Given the description of an element on the screen output the (x, y) to click on. 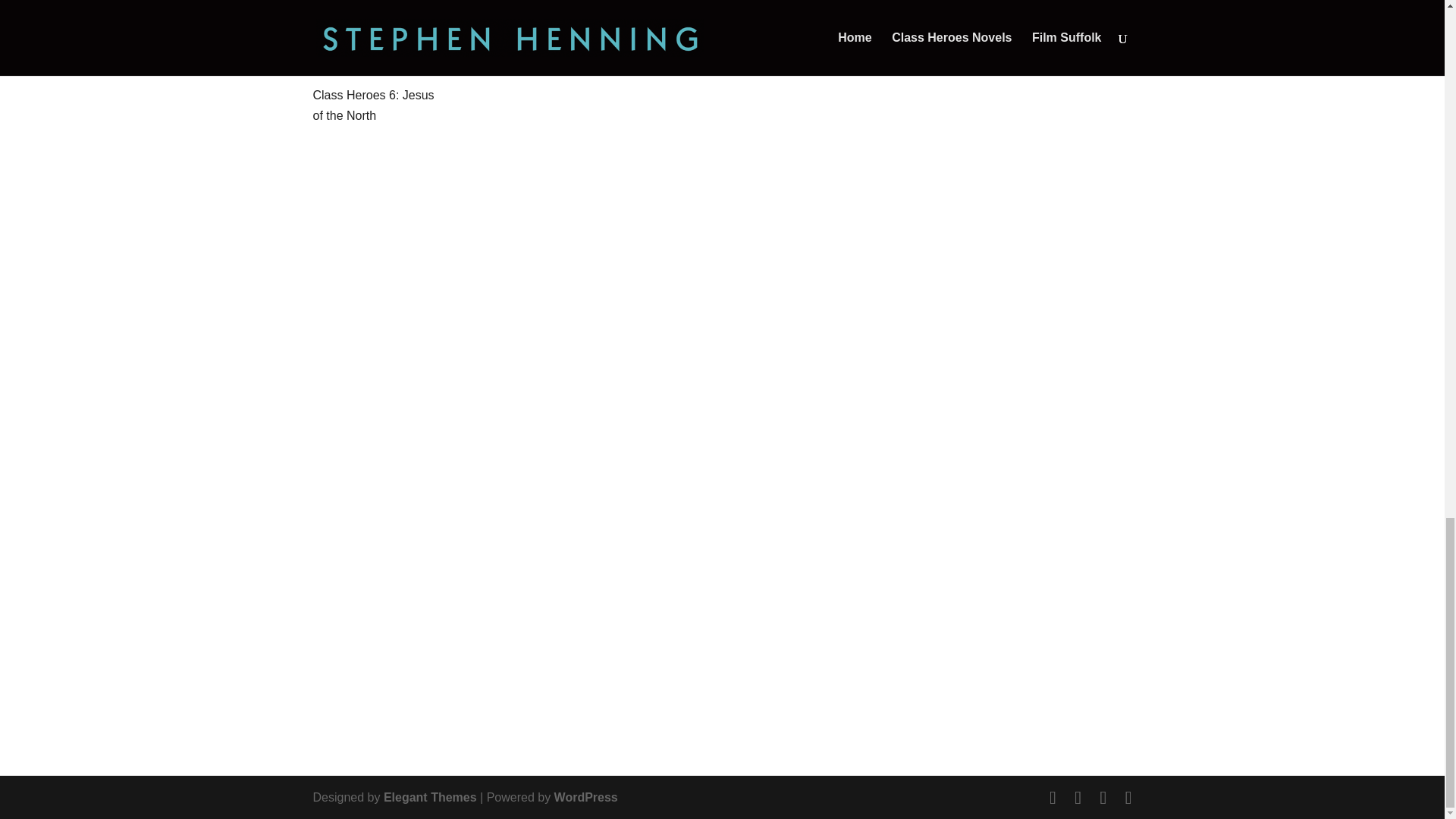
Premium WordPress Themes (430, 797)
Class Heroes 6: Jesus of the North (376, 31)
Elegant Themes (430, 797)
WordPress (585, 797)
